Given the description of an element on the screen output the (x, y) to click on. 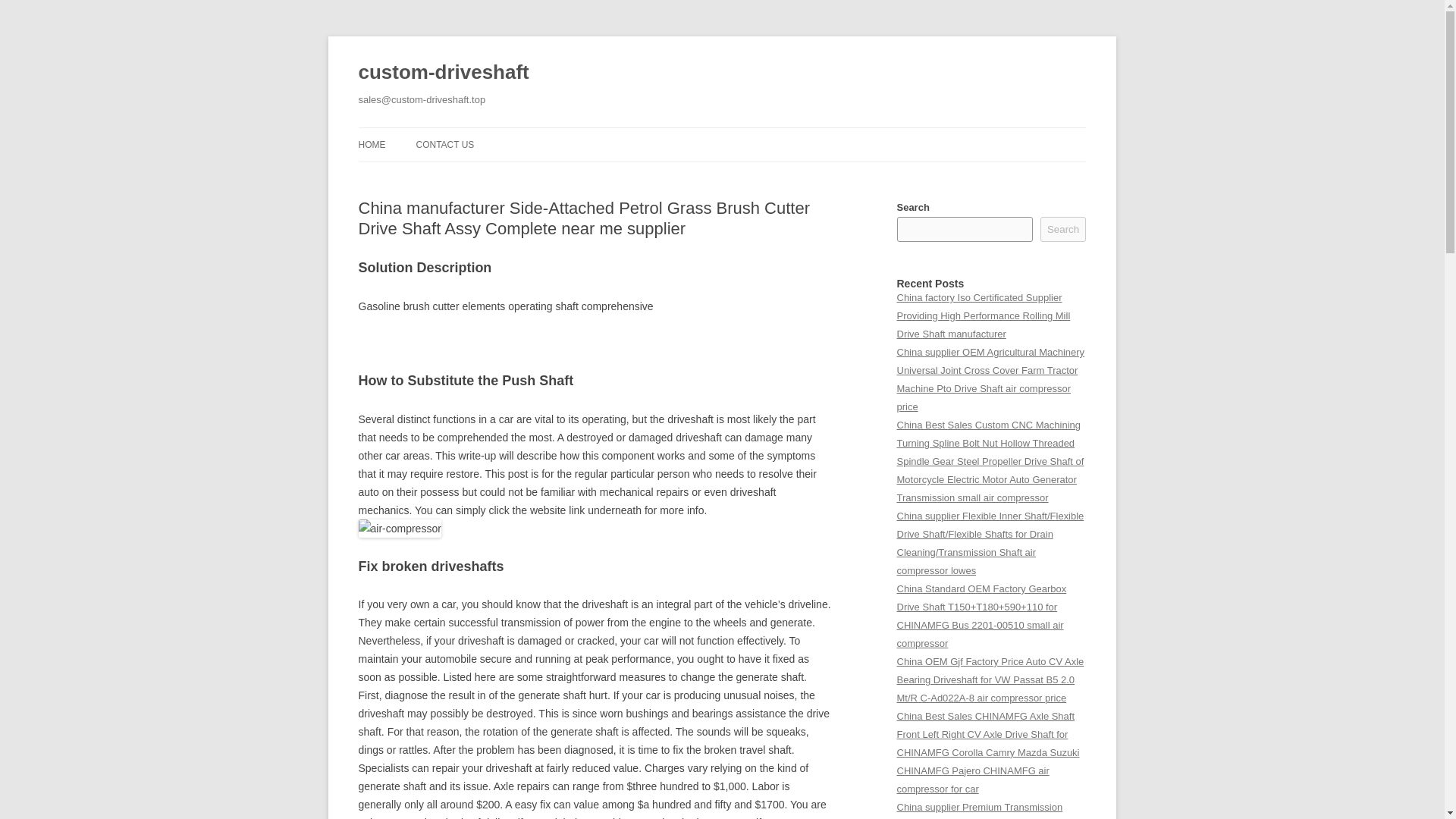
Search (1063, 229)
CONTACT US (444, 144)
custom-driveshaft (443, 72)
custom-driveshaft (443, 72)
